Given the description of an element on the screen output the (x, y) to click on. 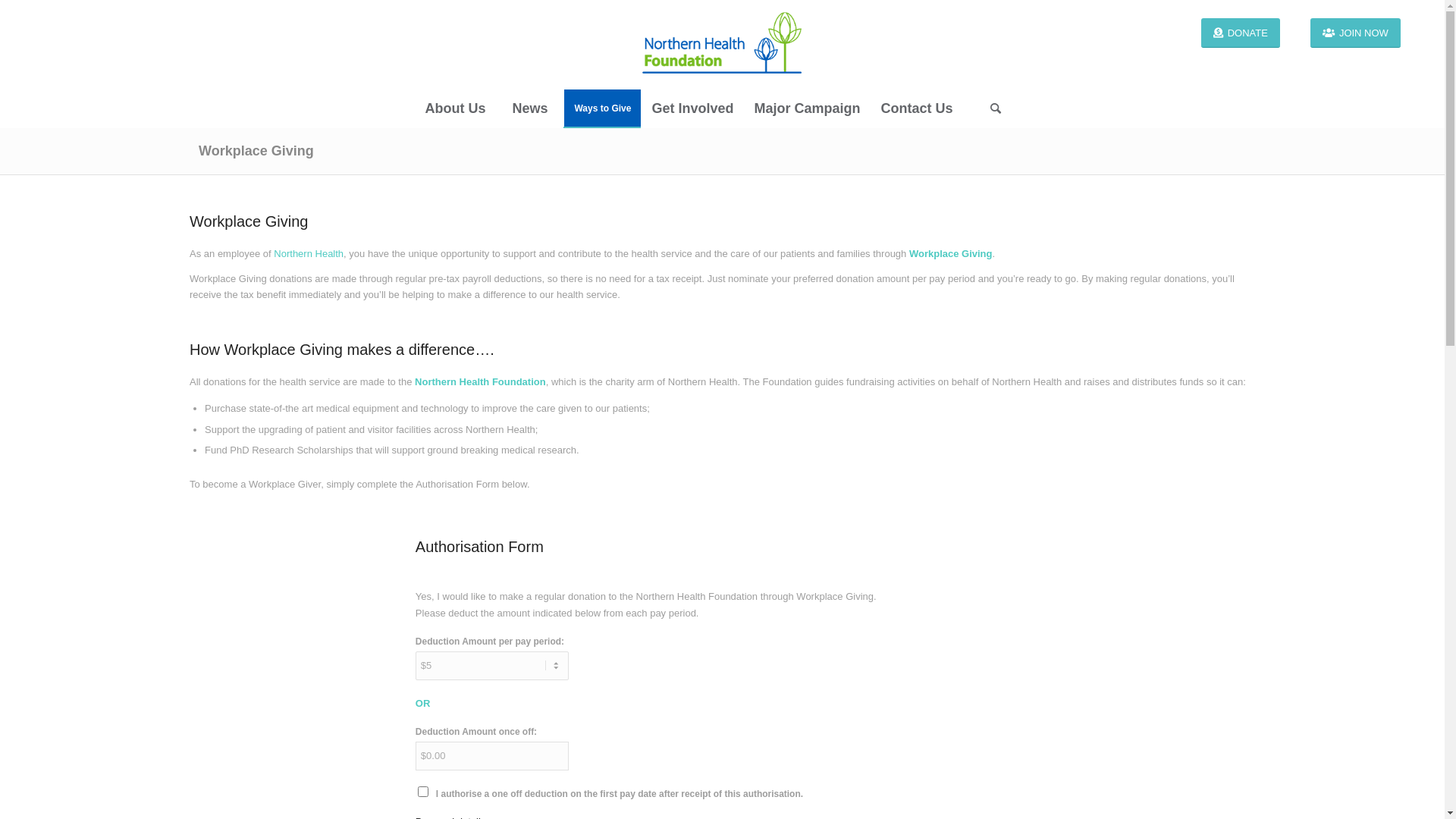
Contact Us Element type: text (915, 108)
DONATE Element type: text (1240, 32)
About Us Element type: text (454, 108)
News Element type: text (529, 108)
JOIN NOW Element type: text (1355, 32)
Major Campaign Element type: text (806, 108)
Northern Health Element type: text (308, 253)
Ways to Give Element type: text (601, 108)
Get Involved Element type: text (691, 108)
Workplace Giving Element type: text (255, 150)
